Given the description of an element on the screen output the (x, y) to click on. 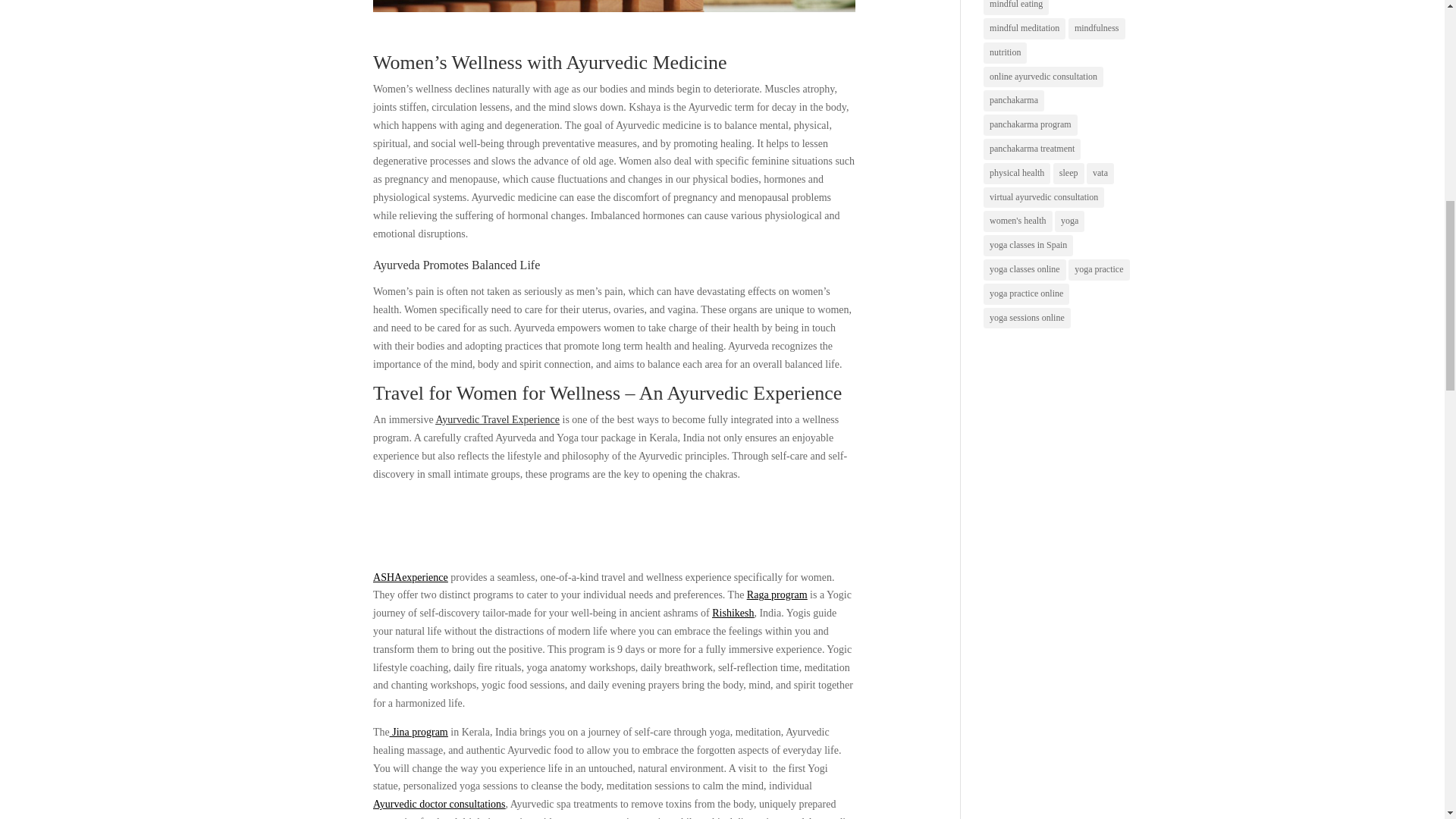
Jina Program - An ayurvedic experience (419, 731)
ayurvedic healing community (410, 577)
Ayurvedic Travel Experience (497, 419)
Rishikesh (732, 613)
ayurvedic-welless-travel-1m (614, 6)
Raga Ayurvedic Wellness Program (777, 594)
